Given the description of an element on the screen output the (x, y) to click on. 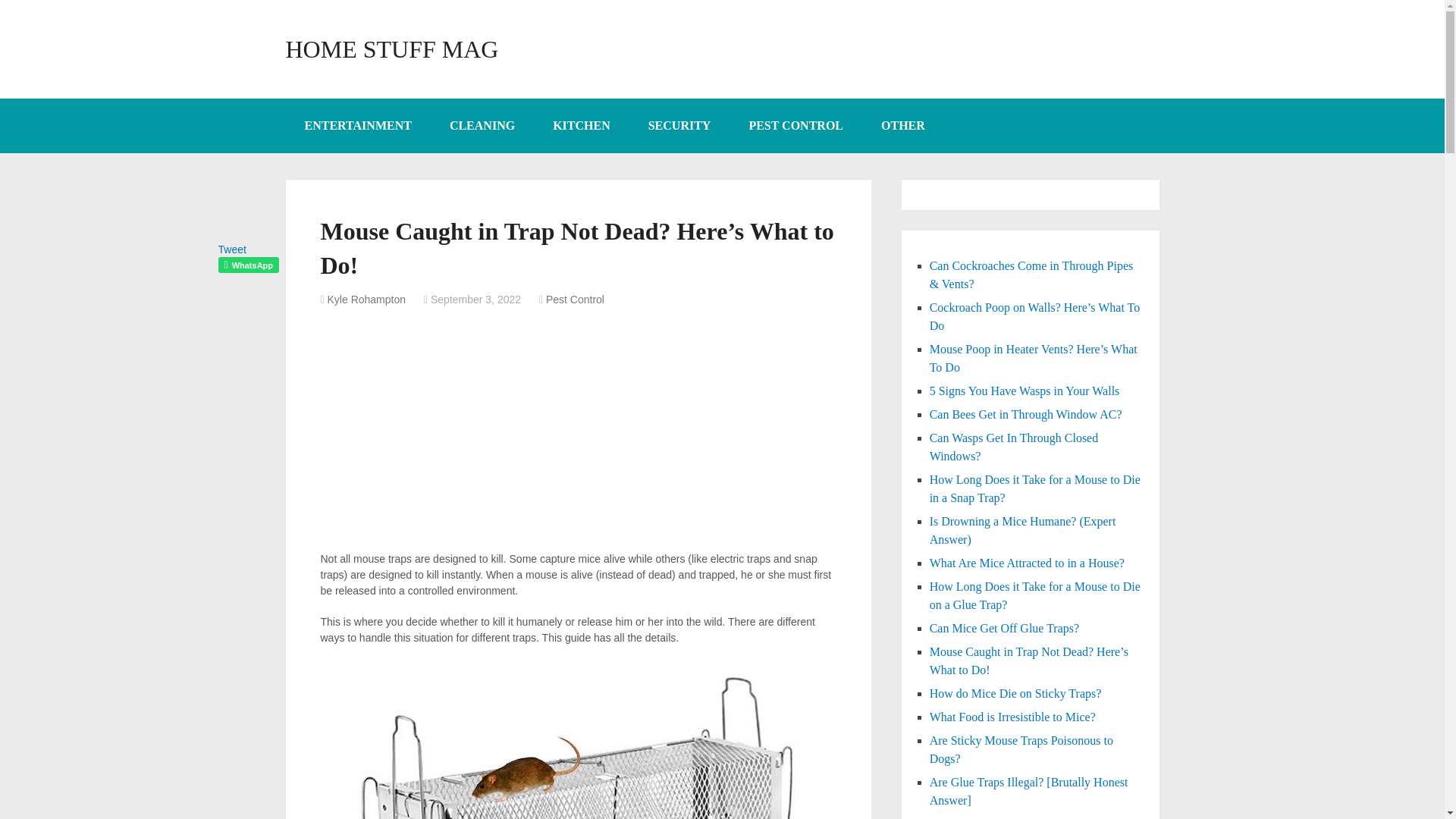
CLEANING (482, 125)
OTHER (902, 125)
HOME STUFF MAG (391, 48)
View all posts in Pest Control (575, 299)
WhatsApp (248, 264)
Tweet (232, 249)
ENTERTAINMENT (357, 125)
KITCHEN (581, 125)
Kyle Rohampton (366, 299)
Posts by Kyle Rohampton (366, 299)
